Given the description of an element on the screen output the (x, y) to click on. 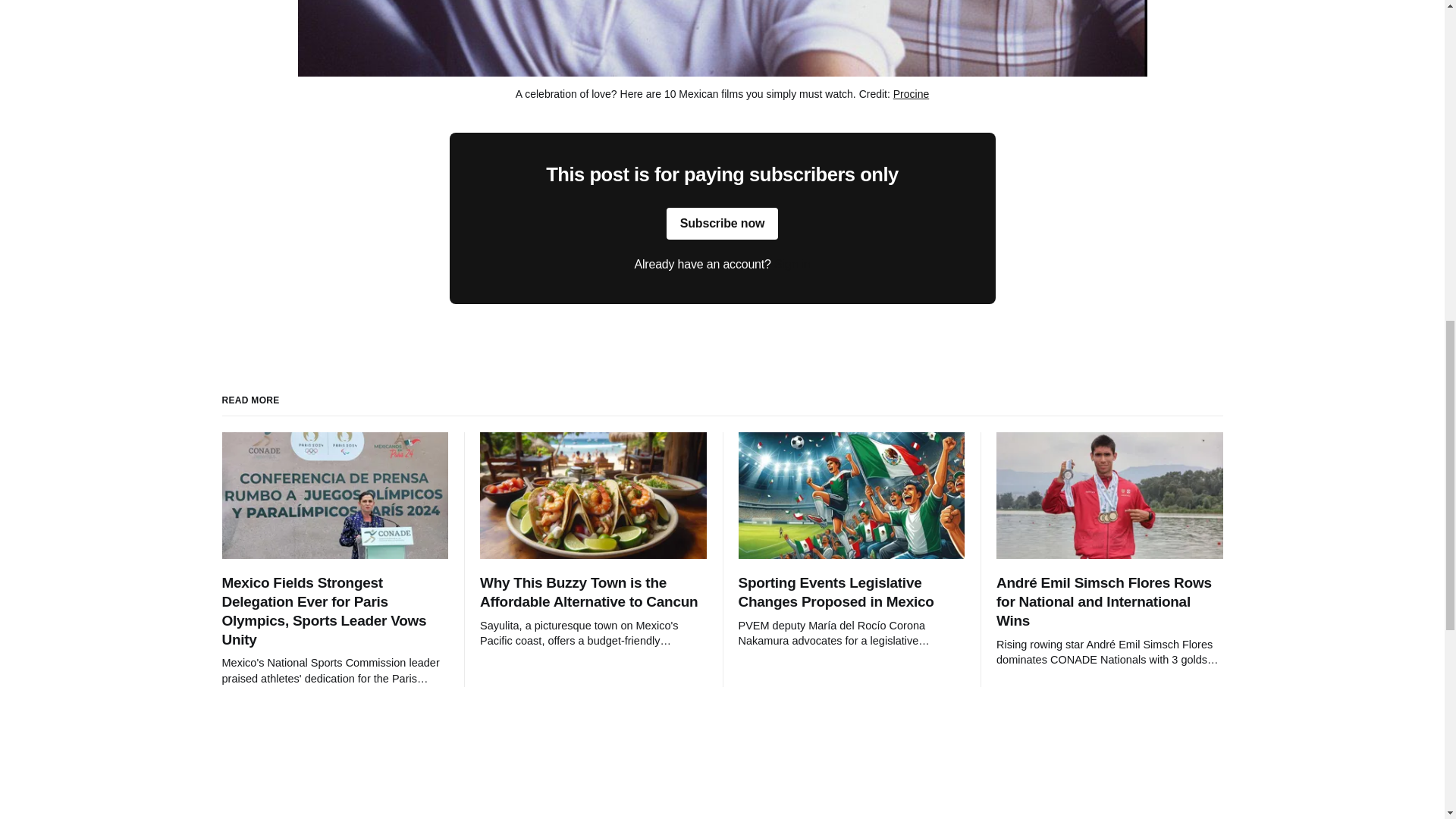
Subscribe now (722, 223)
Procine (910, 93)
Sign in (792, 264)
